Given the description of an element on the screen output the (x, y) to click on. 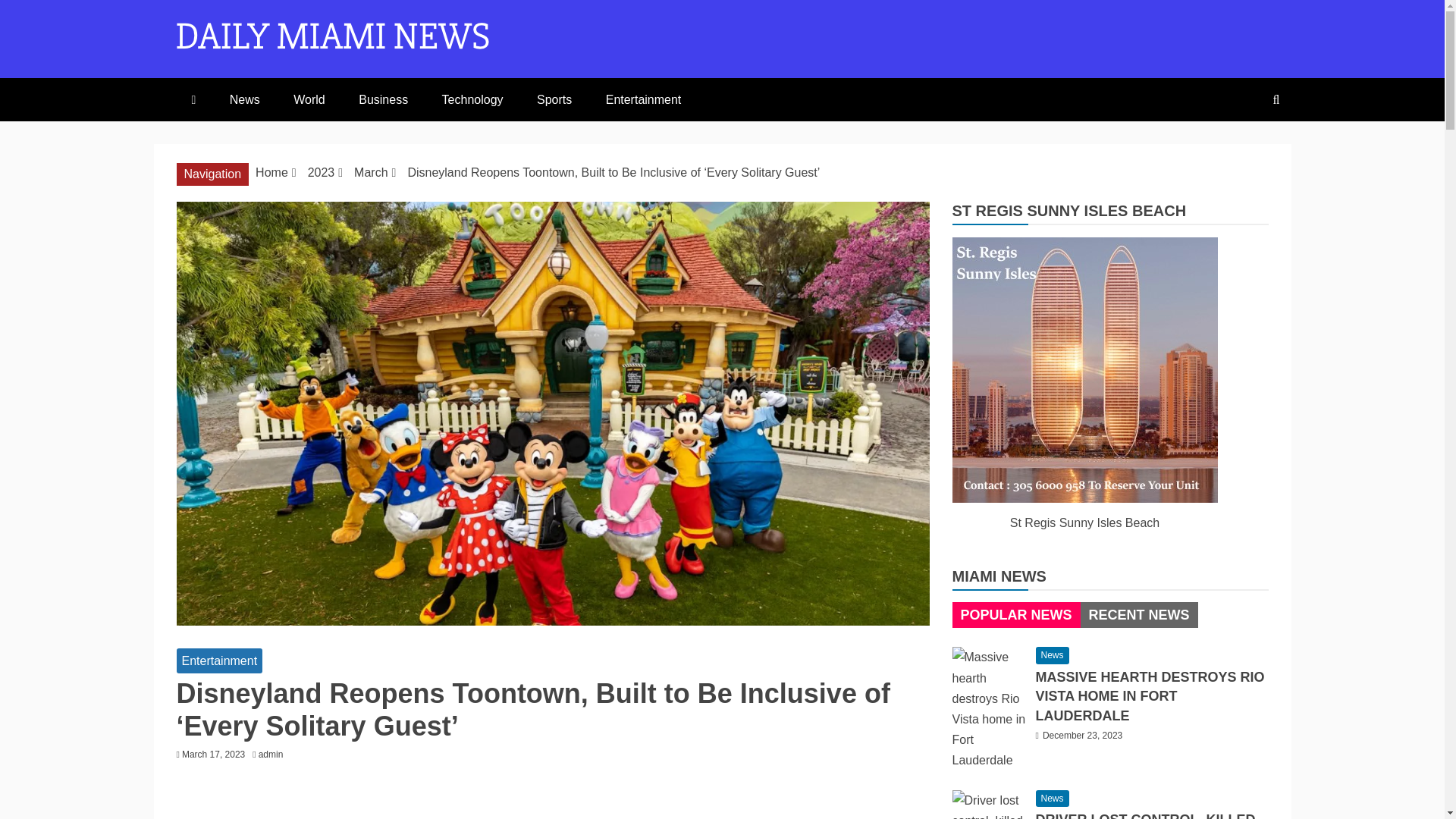
March (370, 172)
Sports (553, 99)
admin (275, 754)
2023 (320, 172)
RECENT NEWS (1139, 614)
Business (383, 99)
DAILY MIAMI NEWS (409, 83)
St Regis Sunny Isles Beach (1084, 369)
March 17, 2023 (213, 754)
News (244, 99)
Entertainment (644, 99)
Entertainment (219, 660)
POPULAR NEWS (1015, 614)
Technology (472, 99)
